Given the description of an element on the screen output the (x, y) to click on. 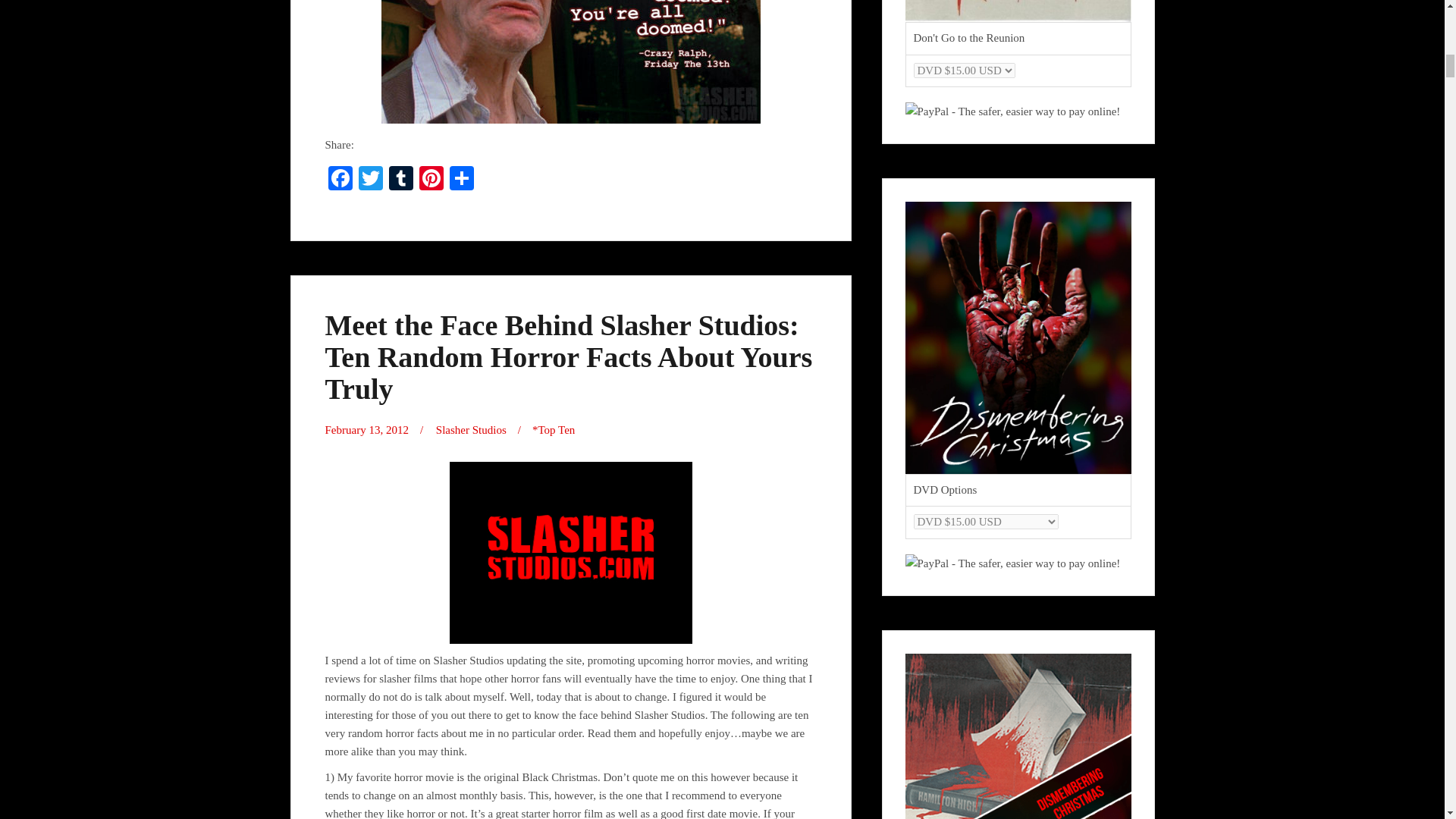
Pinterest (429, 180)
Tumblr (399, 180)
SLASHERSTUDIOSLOGO (569, 552)
Twitter (370, 180)
Facebook (339, 180)
